Given the description of an element on the screen output the (x, y) to click on. 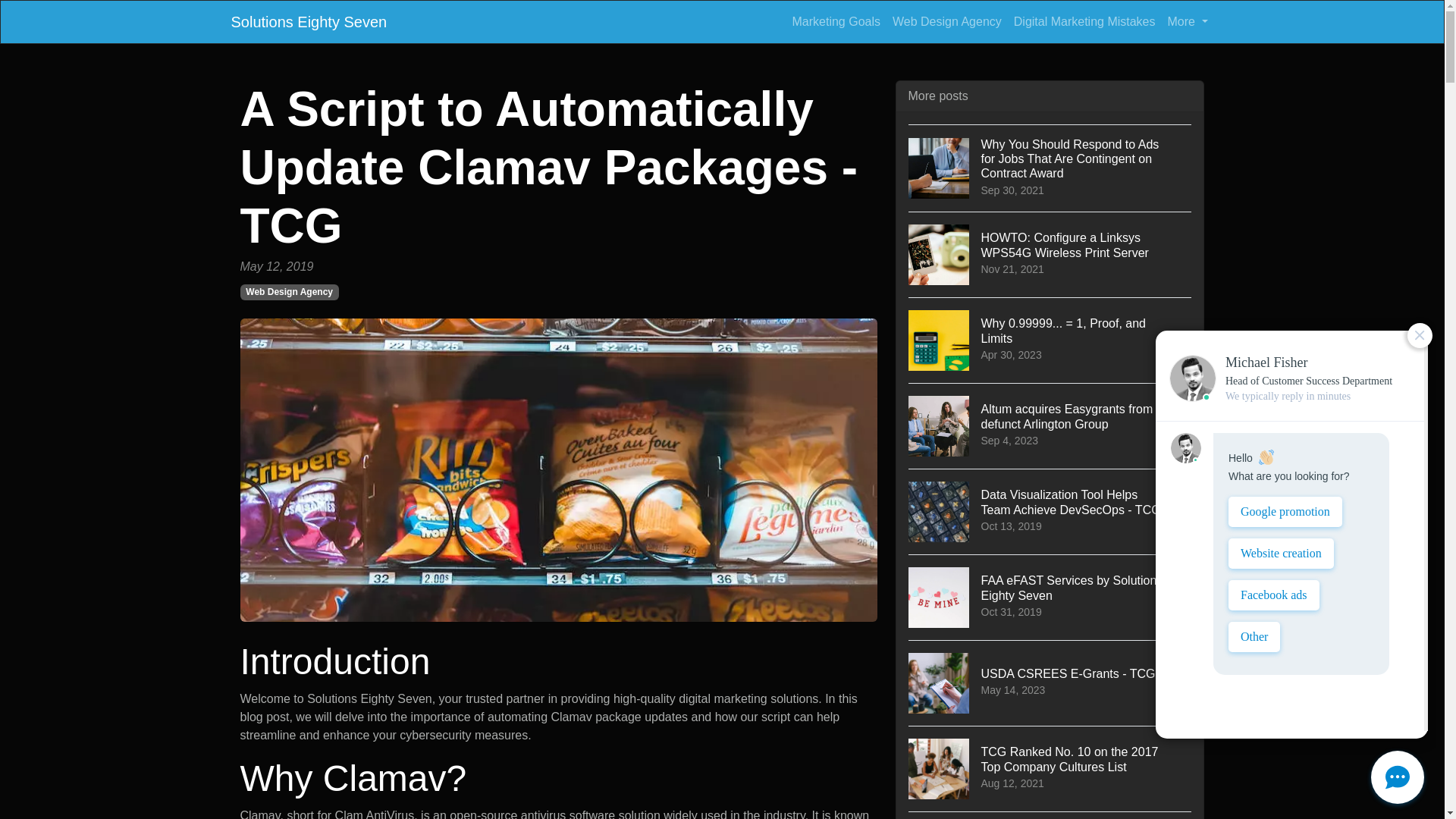
Marketing Goals (836, 21)
Web Design Agency (288, 291)
Digital Marketing Mistakes (1084, 21)
More (1187, 21)
Solutions Eighty Seven (1050, 596)
Web Design Agency (308, 21)
